Given the description of an element on the screen output the (x, y) to click on. 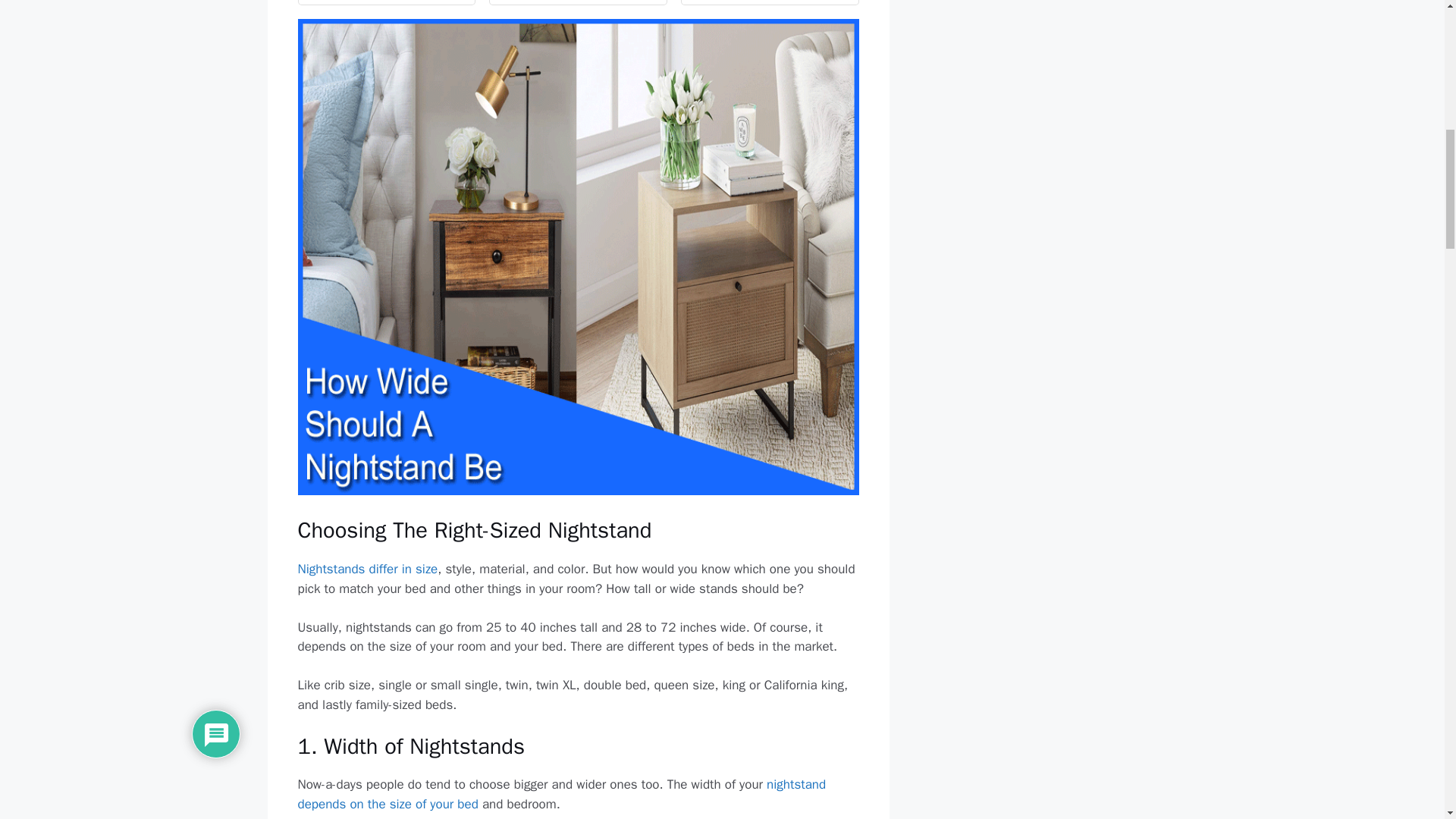
Nightstands differ in size (367, 569)
nightstand depends on the size of your bed (561, 794)
